Given the description of an element on the screen output the (x, y) to click on. 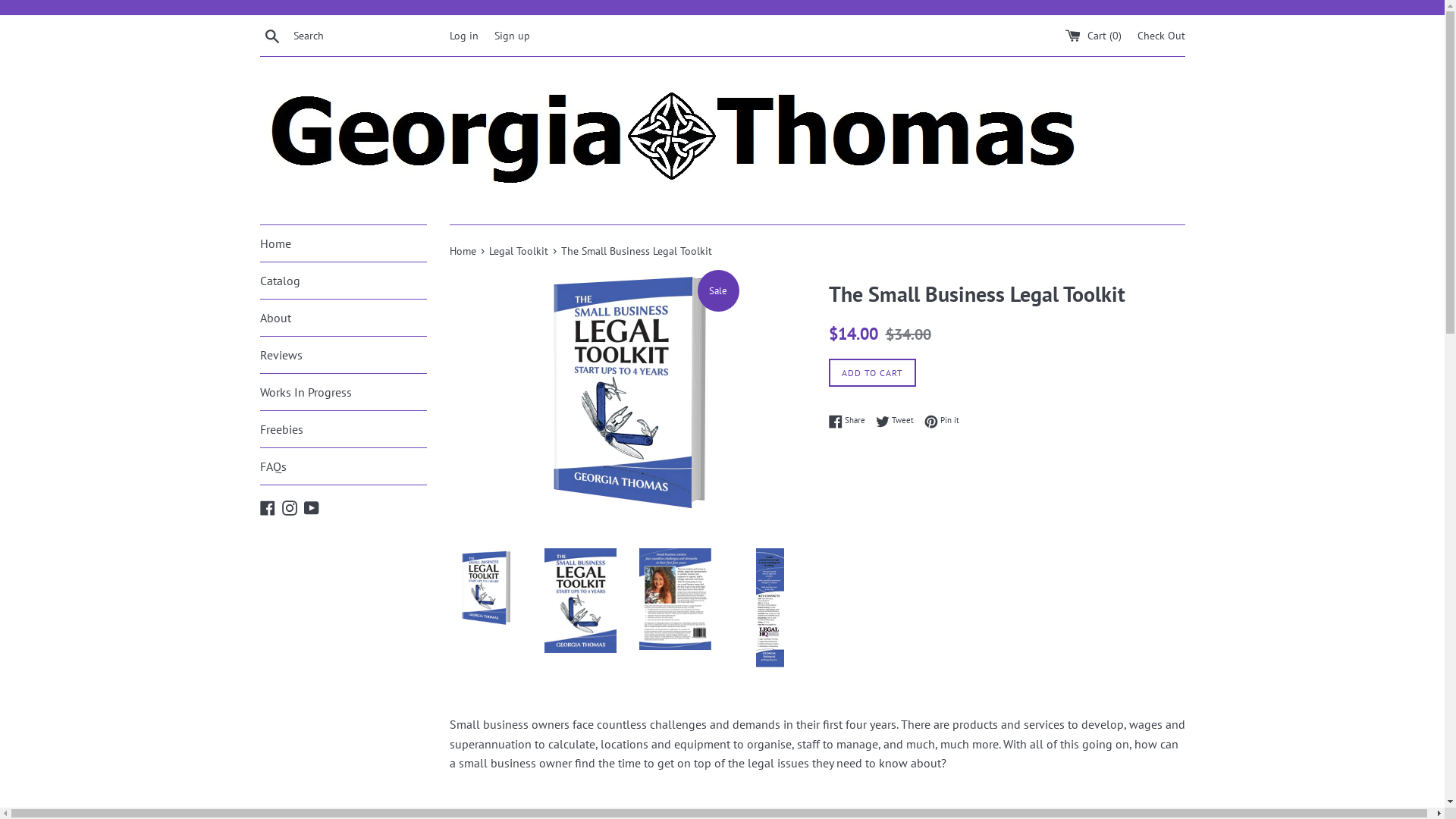
Catalog Element type: text (342, 280)
Cart (0) Element type: text (1093, 34)
Legal Toolkit Element type: text (519, 250)
About Element type: text (342, 317)
Home Element type: text (463, 250)
FAQs Element type: text (342, 466)
ADD TO CART Element type: text (871, 372)
YouTube Element type: text (310, 506)
Pin it
Pin on Pinterest Element type: text (940, 420)
Instagram Element type: text (289, 506)
Freebies Element type: text (342, 429)
Home Element type: text (342, 243)
Works In Progress Element type: text (342, 391)
Search Element type: text (271, 34)
Log in Element type: text (462, 34)
Tweet
Tweet on Twitter Element type: text (897, 420)
Check Out Element type: text (1161, 34)
Share
Share on Facebook Element type: text (850, 420)
Sign up Element type: text (512, 34)
Reviews Element type: text (342, 354)
Facebook Element type: text (266, 506)
